Given the description of an element on the screen output the (x, y) to click on. 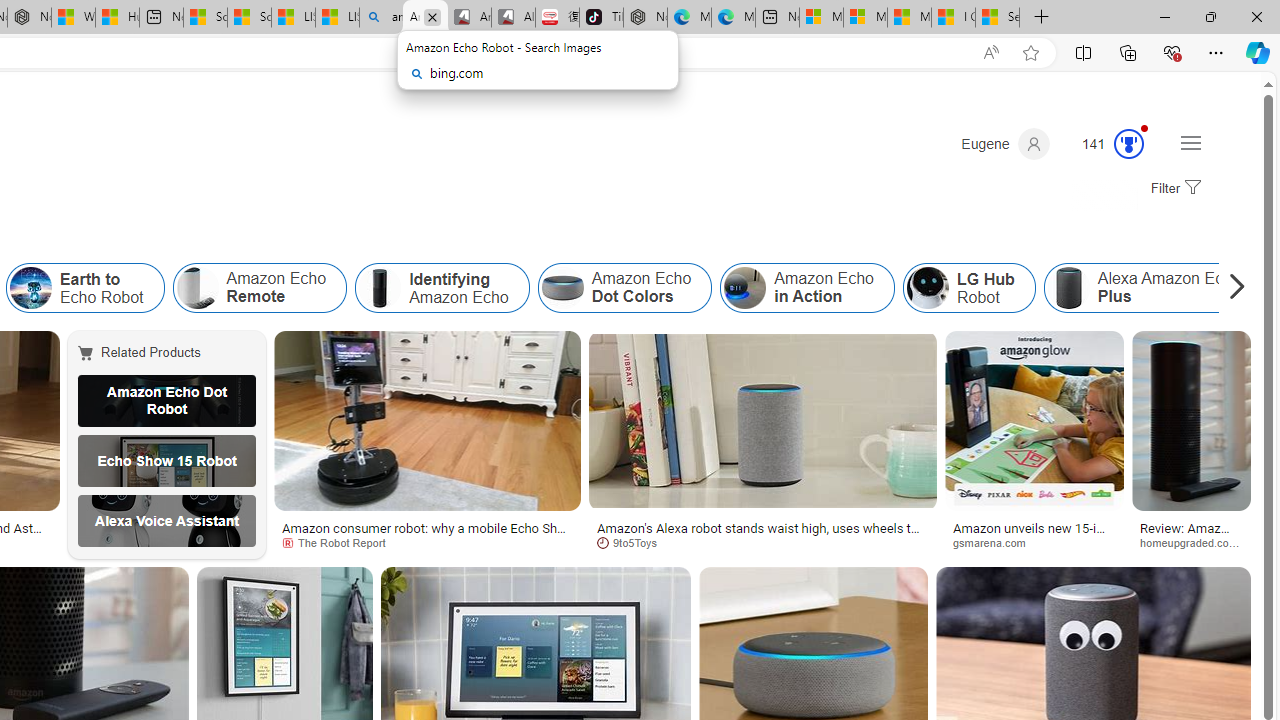
Class: medal-circled (1129, 143)
Identifying Amazon Echo (441, 287)
gsmarena.com (1034, 542)
Amazon Echo Dot Colors (624, 287)
Wildlife - MSN (73, 17)
All Cubot phones (513, 17)
Filter (1173, 189)
